Given the description of an element on the screen output the (x, y) to click on. 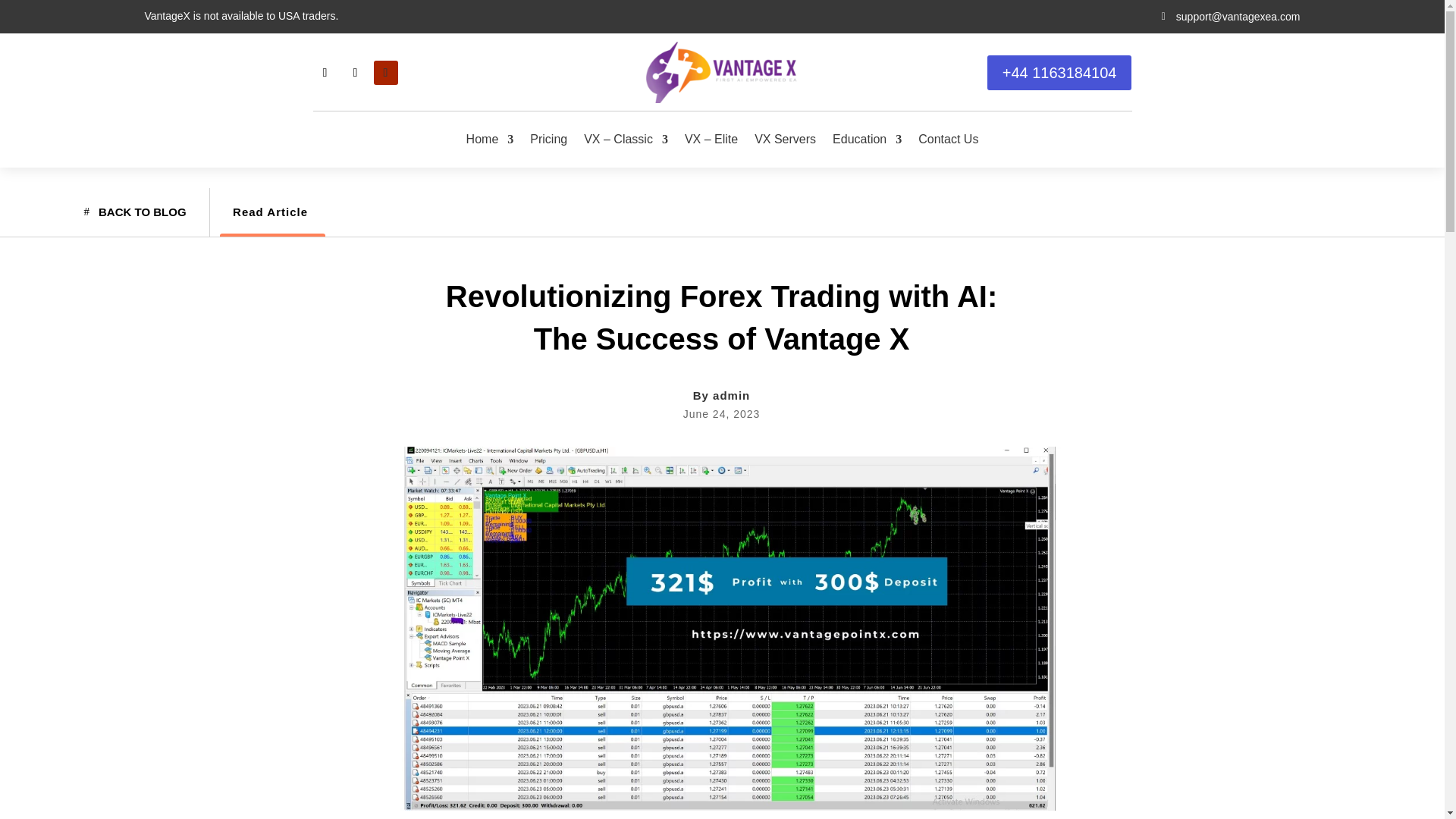
Follow on Instagram (354, 72)
Education (866, 139)
Contact Us (948, 139)
Asset 6 (721, 72)
Follow on Facebook (324, 72)
Follow on Youtube (384, 72)
VX Servers (784, 139)
